Given the description of an element on the screen output the (x, y) to click on. 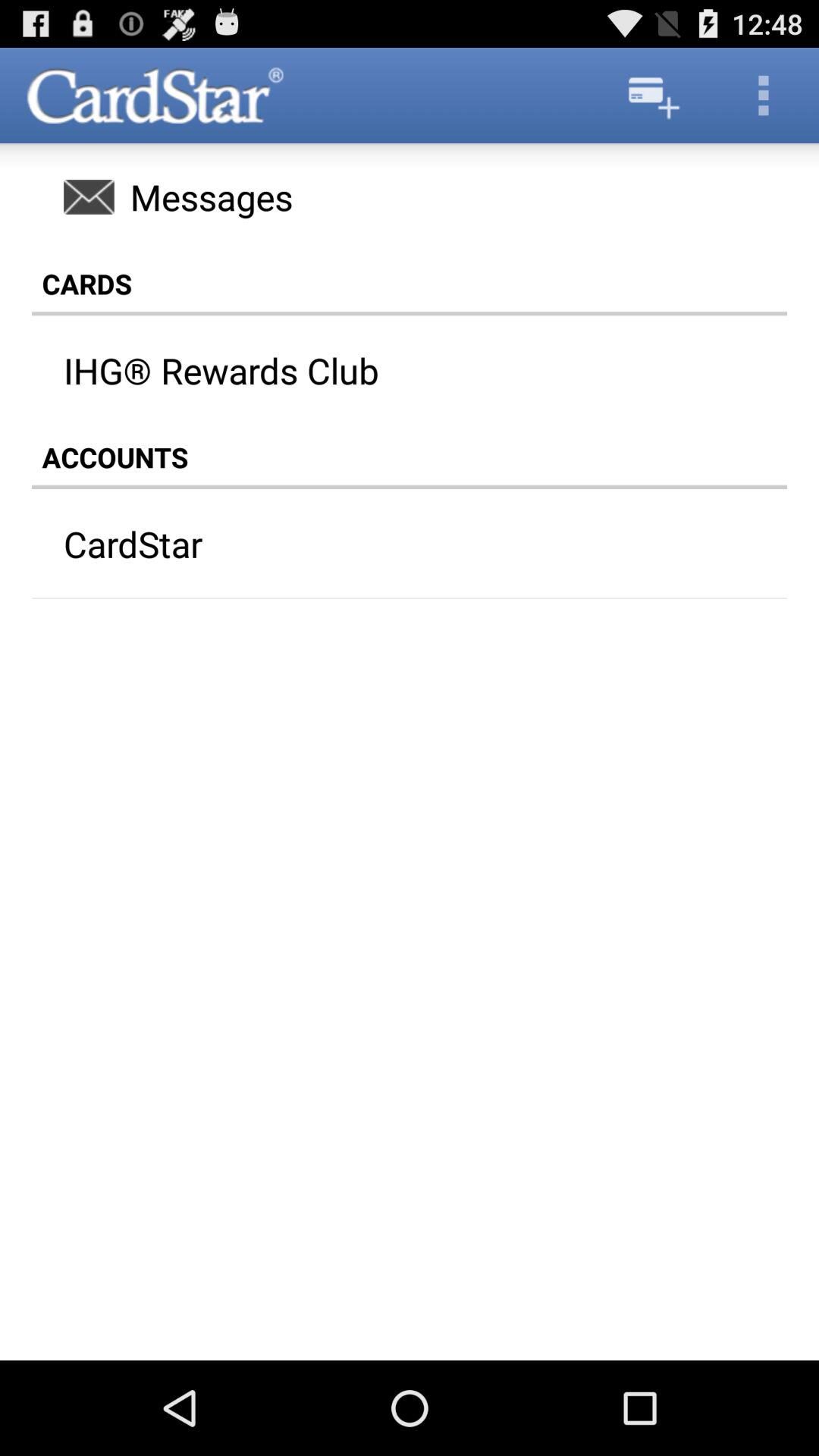
scroll until the cards icon (409, 283)
